Given the description of an element on the screen output the (x, y) to click on. 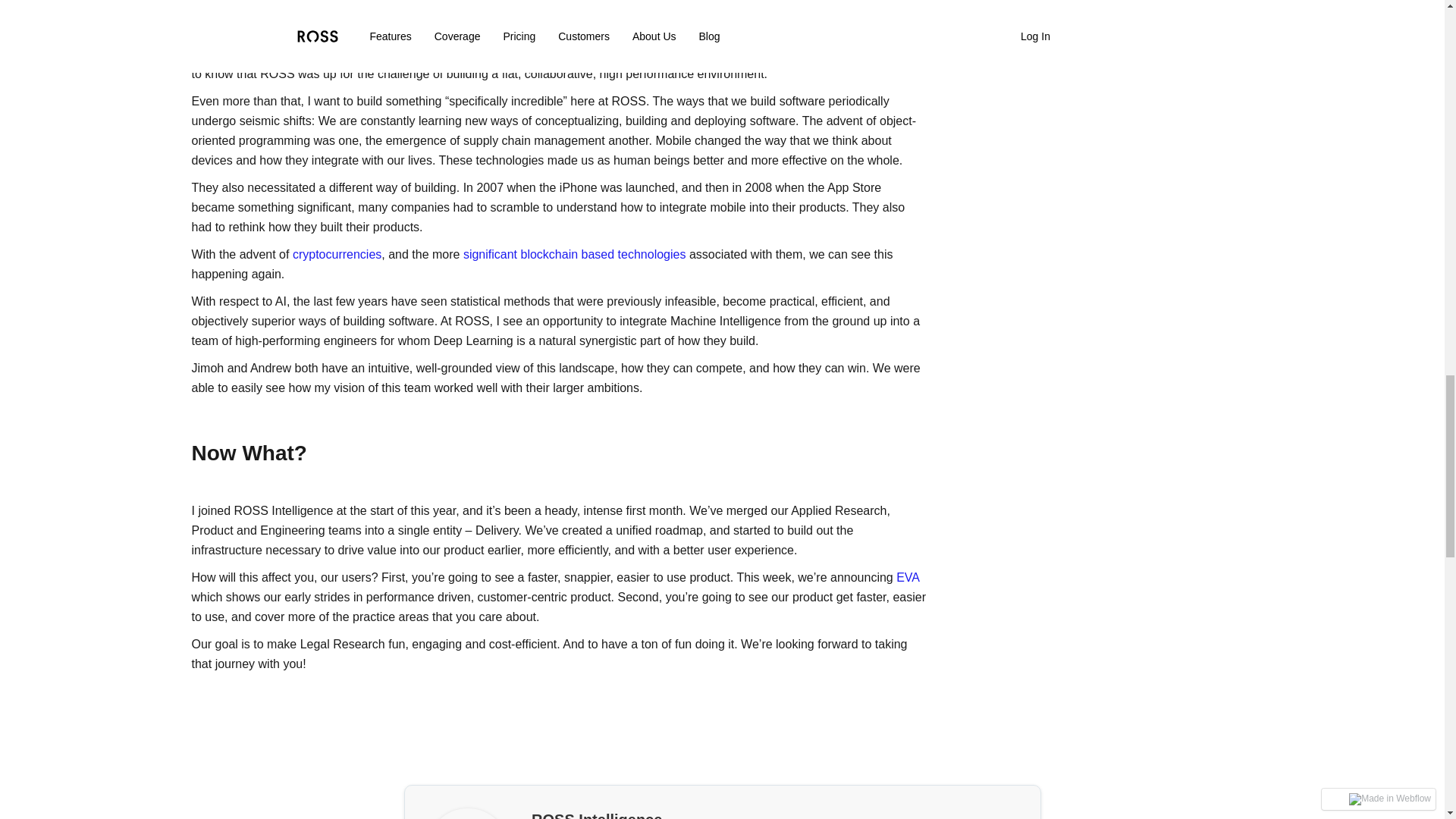
cryptocurrencies (336, 254)
desires (625, 33)
my own needs (538, 33)
significant blockchain based technologies (574, 254)
growing teams (331, 53)
artificial intelligence technology (777, 53)
EVA (907, 576)
